Given the description of an element on the screen output the (x, y) to click on. 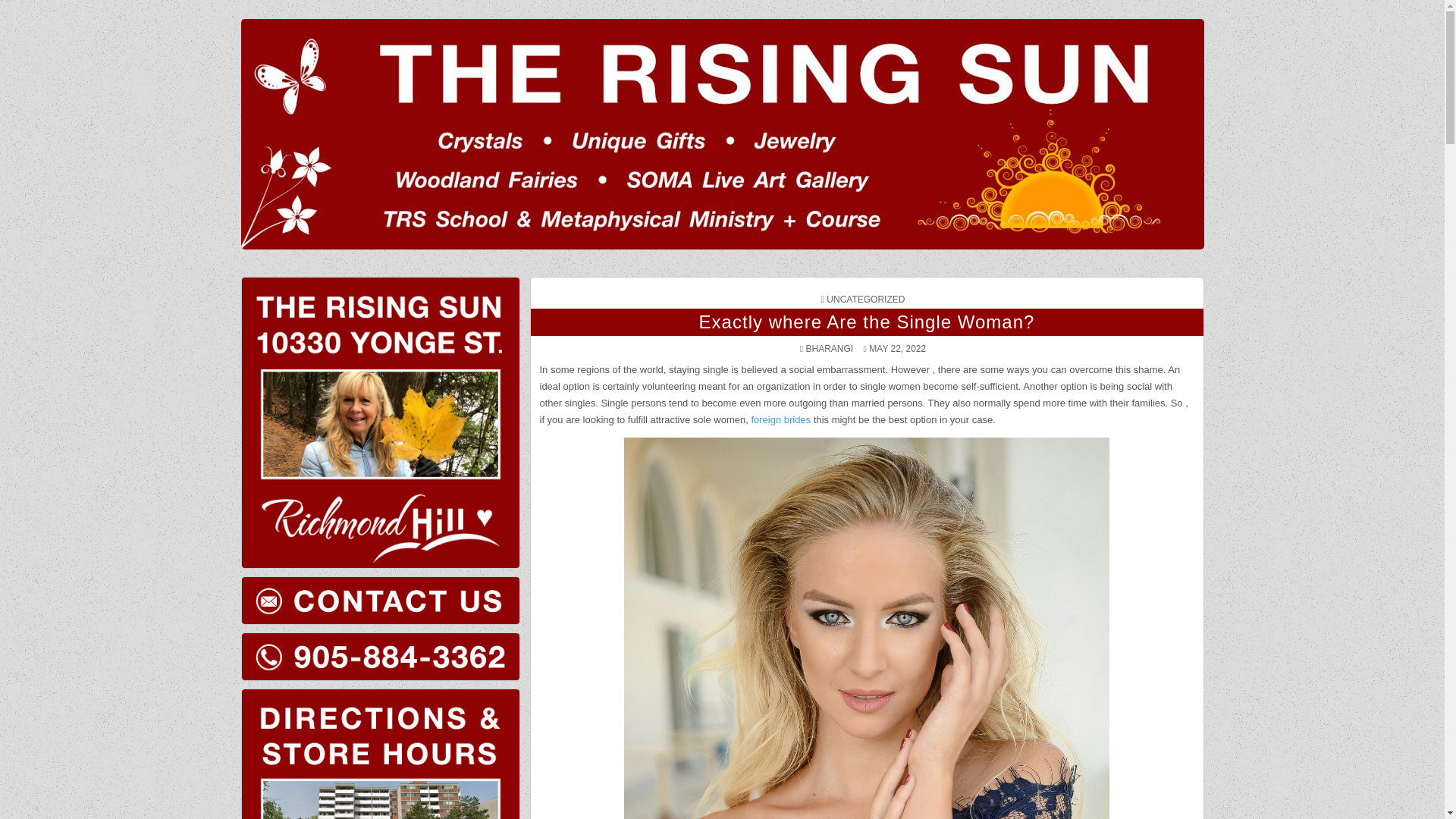
foreign brides (780, 419)
Exactly where Are the Single Woman? (866, 322)
BHARANGI (829, 348)
UNCATEGORIZED (865, 299)
